Given the description of an element on the screen output the (x, y) to click on. 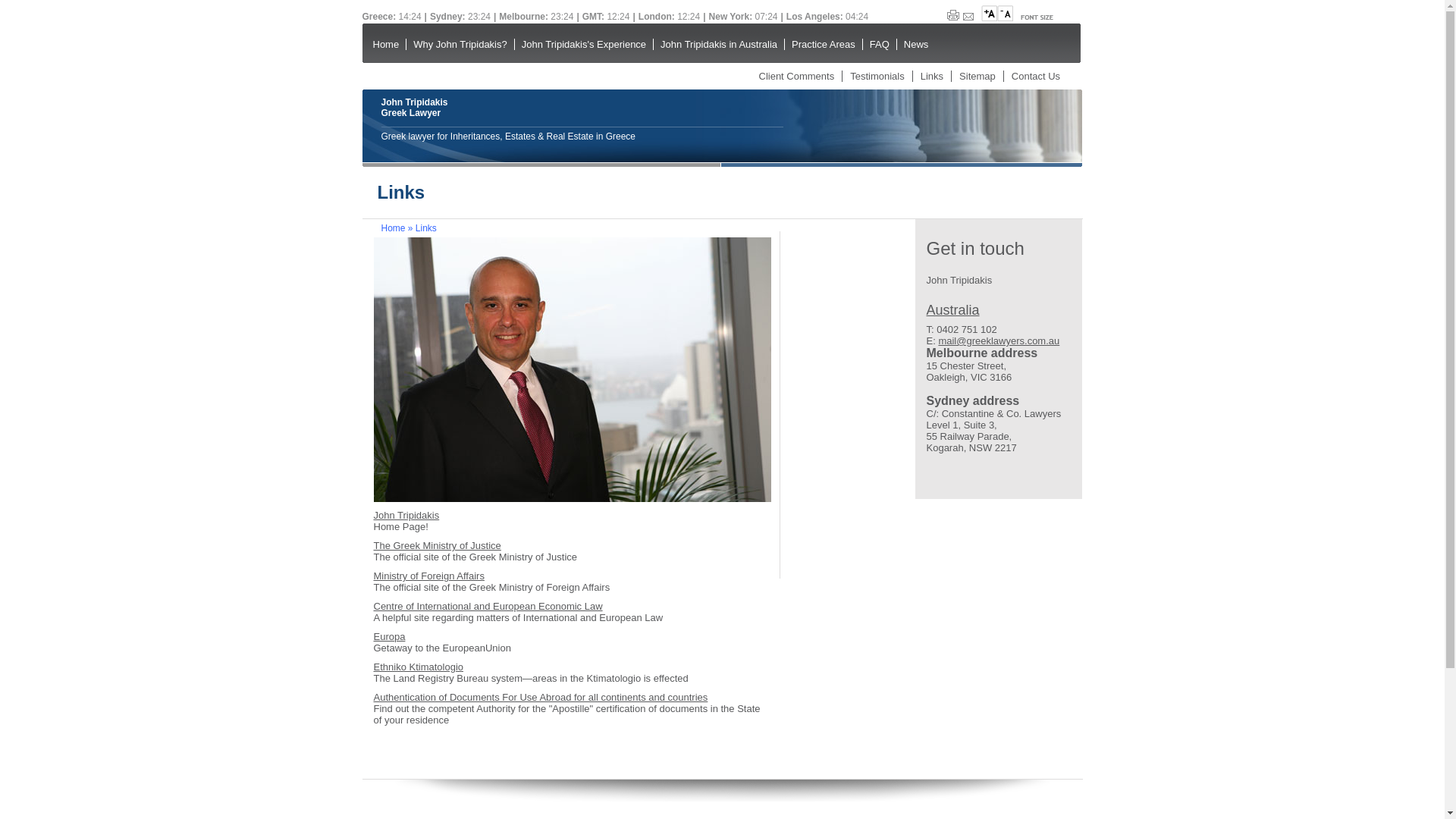
John Tripidakis's Experience Element type: text (583, 44)
Centre of International and European Economic Law Element type: text (487, 605)
Europa Element type: text (388, 636)
Home Element type: text (392, 227)
Testimonials Element type: text (877, 75)
Ethniko Ktimatologio Element type: text (418, 666)
John Tripidakis in Australia Element type: text (718, 44)
News Element type: text (915, 44)
FAQ Element type: text (879, 44)
Home Element type: text (385, 44)
Sitemap Element type: text (977, 75)
Ministry of Foreign Affairs Element type: text (428, 575)
Practice Areas Element type: text (823, 44)
mail@greeklawyers.com.au Element type: text (998, 340)
Australia Element type: text (952, 309)
Client Comments Element type: text (796, 75)
The Greek Ministry of Justice Element type: text (436, 545)
Links Element type: text (931, 75)
John Tripidakis Element type: text (406, 514)
Why John Tripidakis? Element type: text (459, 44)
Contact Us Element type: text (1035, 75)
